Given the description of an element on the screen output the (x, y) to click on. 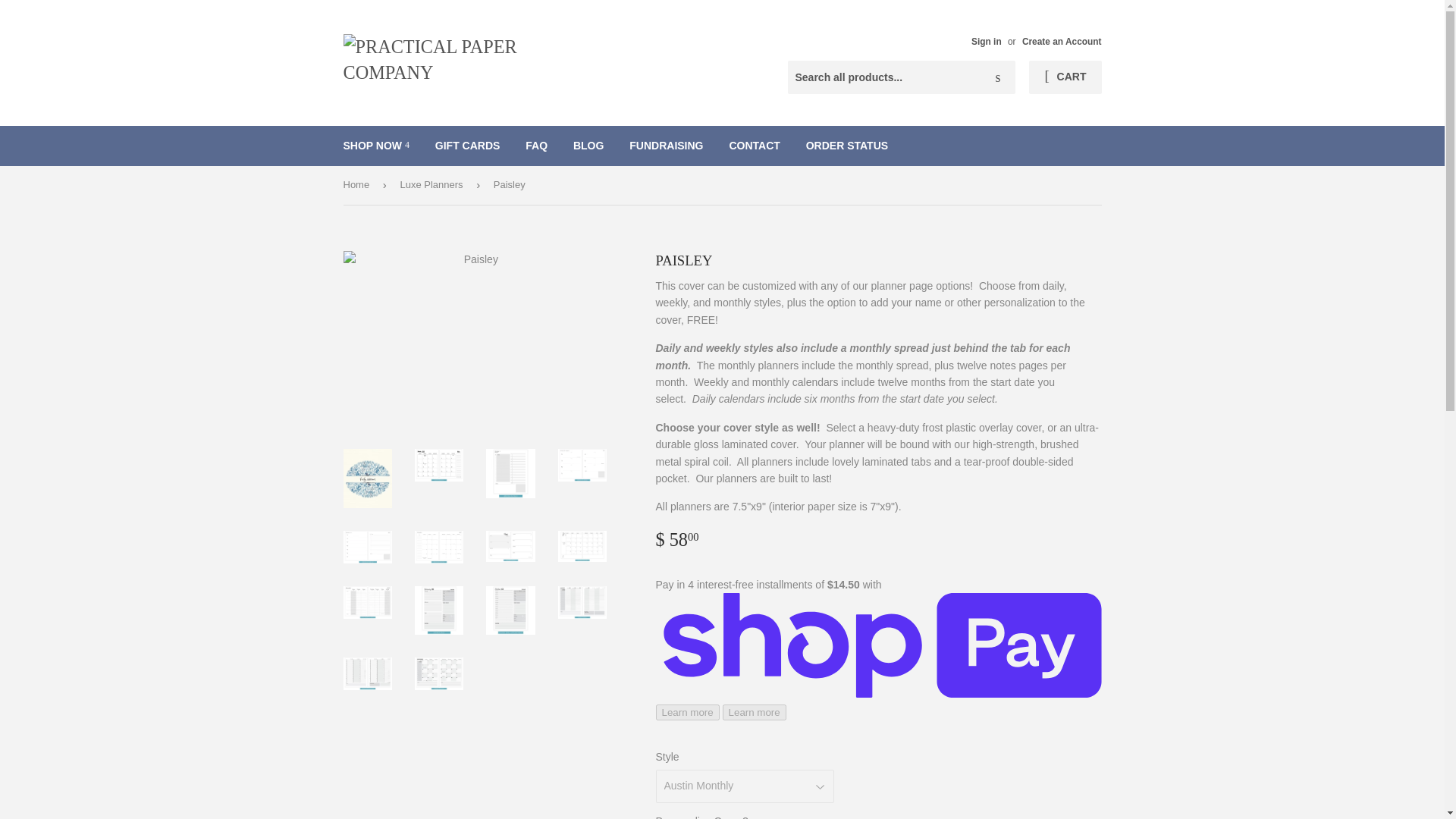
Search (997, 78)
ORDER STATUS (846, 145)
SHOP NOW (375, 145)
Sign in (986, 41)
FUNDRAISING (665, 145)
FAQ (536, 145)
GIFT CARDS (467, 145)
BLOG (588, 145)
Create an Account (1062, 41)
CONTACT (753, 145)
